Given the description of an element on the screen output the (x, y) to click on. 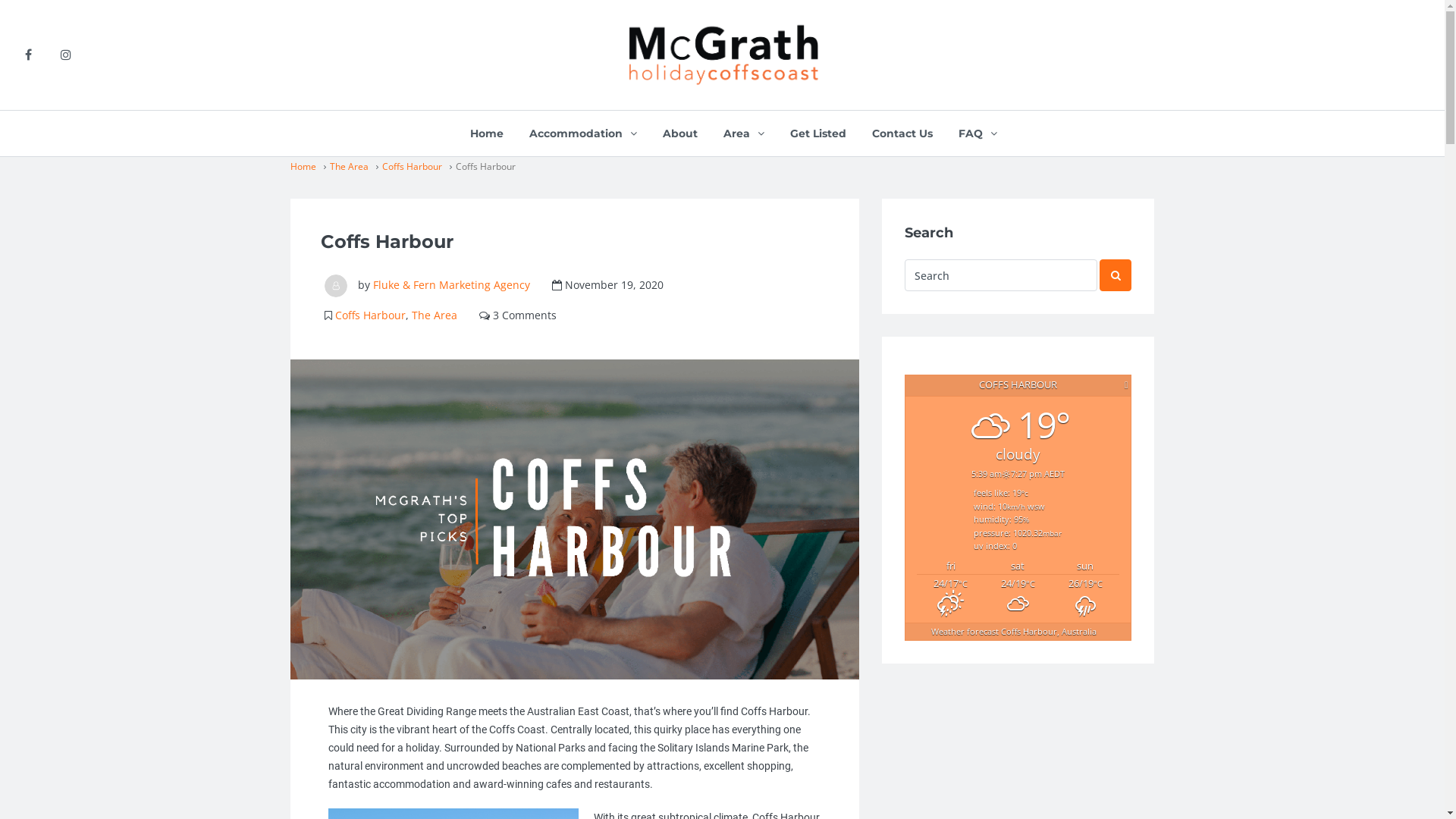
Coffs Harbour Element type: text (370, 314)
The Area Element type: text (433, 314)
Fluke & Fern Marketing Agency Element type: text (451, 284)
FAQ Element type: text (977, 133)
Accommodation Element type: text (582, 133)
The Area Element type: text (348, 165)
Coffs Harbour Element type: text (412, 165)
Home Element type: text (486, 133)
About Element type: text (680, 133)
Home Element type: text (302, 165)
Get Listed Element type: text (817, 133)
Area Element type: text (743, 133)
Contact Us Element type: text (902, 133)
Holiday Coffs Coast -  Element type: hover (723, 54)
